Given the description of an element on the screen output the (x, y) to click on. 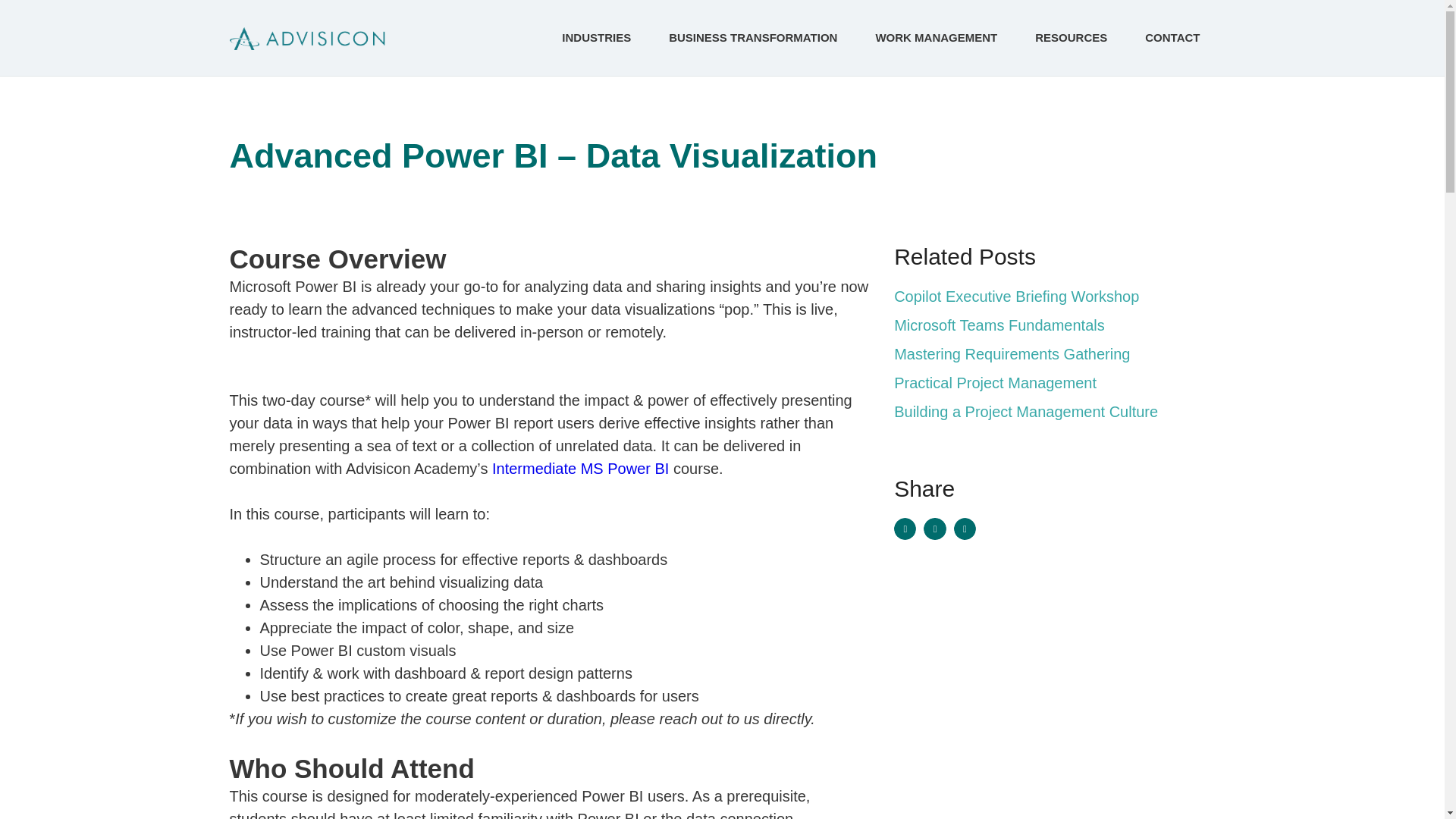
BUSINESS TRANSFORMATION (756, 38)
INDUSTRIES (600, 38)
CONTACT (1171, 38)
WORK MANAGEMENT (940, 38)
RESOURCES (1074, 38)
